Given the description of an element on the screen output the (x, y) to click on. 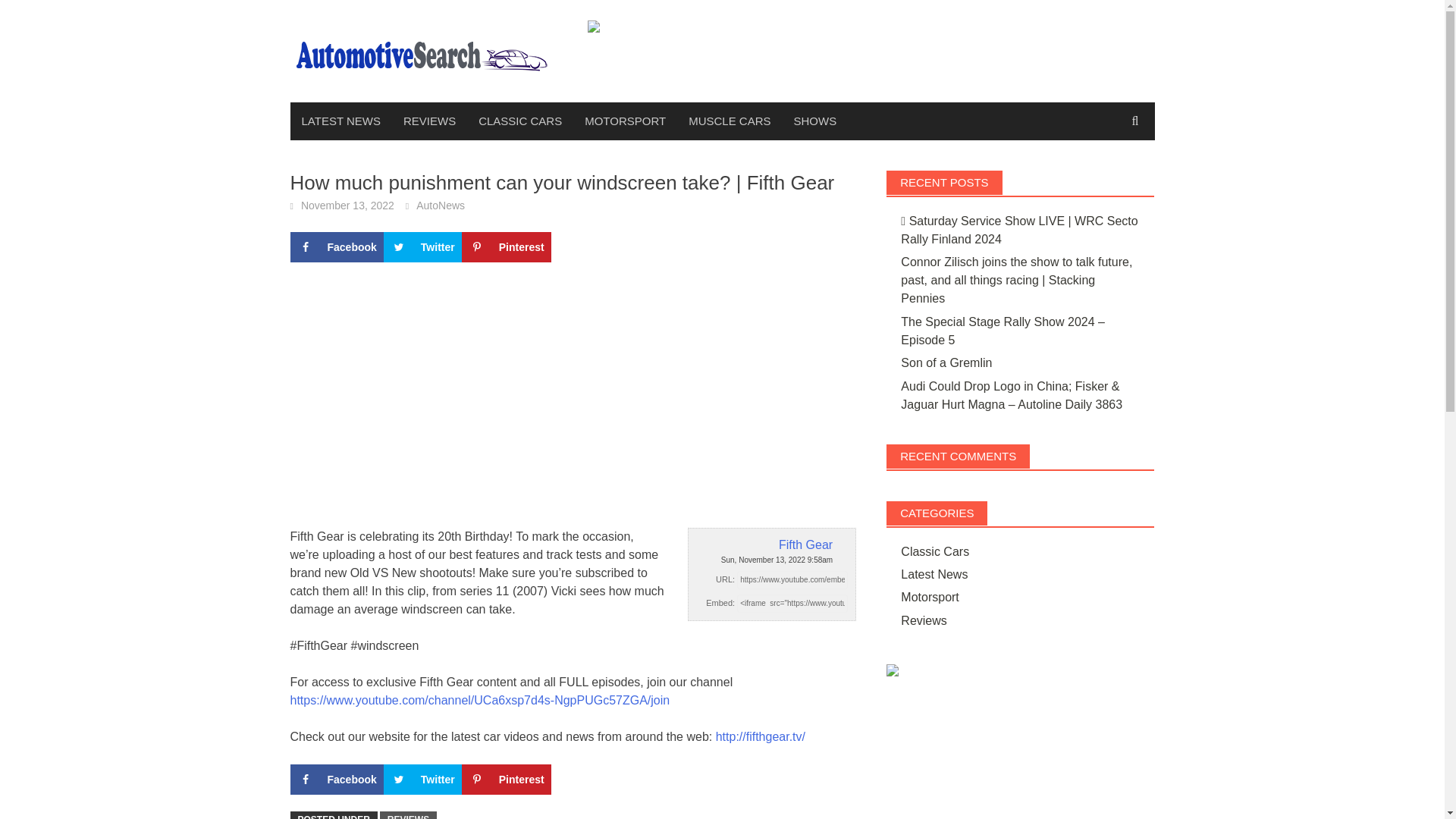
Facebook (335, 779)
Pinterest (506, 779)
MOTORSPORT (625, 121)
Share on Twitter (422, 779)
REVIEWS (429, 121)
Twitter (422, 246)
MUSCLE CARS (729, 121)
REVIEWS (408, 815)
Share on Facebook (335, 779)
Fifth Gear (771, 545)
Share on Twitter (422, 246)
YouTube video player (480, 391)
AutoNews (440, 205)
Share on Facebook (335, 246)
Motorsport (929, 596)
